Given the description of an element on the screen output the (x, y) to click on. 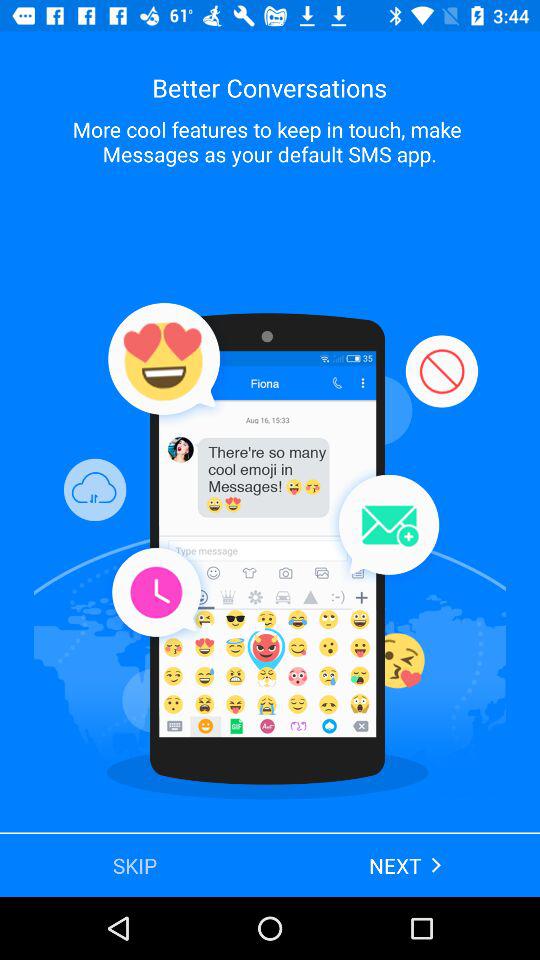
press the skip app (135, 864)
